Given the description of an element on the screen output the (x, y) to click on. 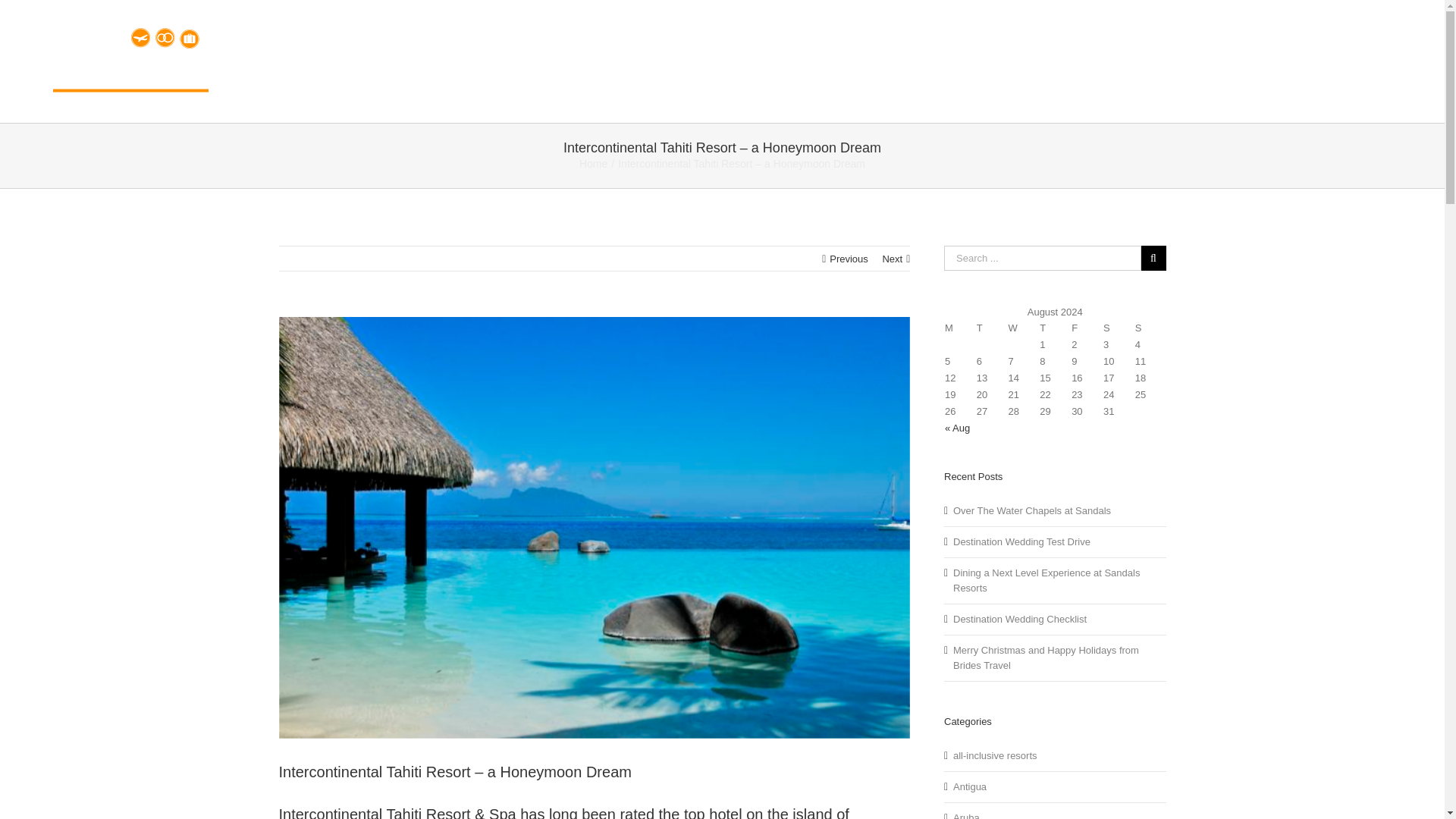
Tuesday (991, 328)
Home (593, 163)
Wednesday (1023, 328)
Friday (1086, 328)
Monday (959, 328)
Previous (848, 258)
CONTACT US (1349, 40)
Thursday (1054, 328)
DESTINATIONS (1061, 40)
